Given the description of an element on the screen output the (x, y) to click on. 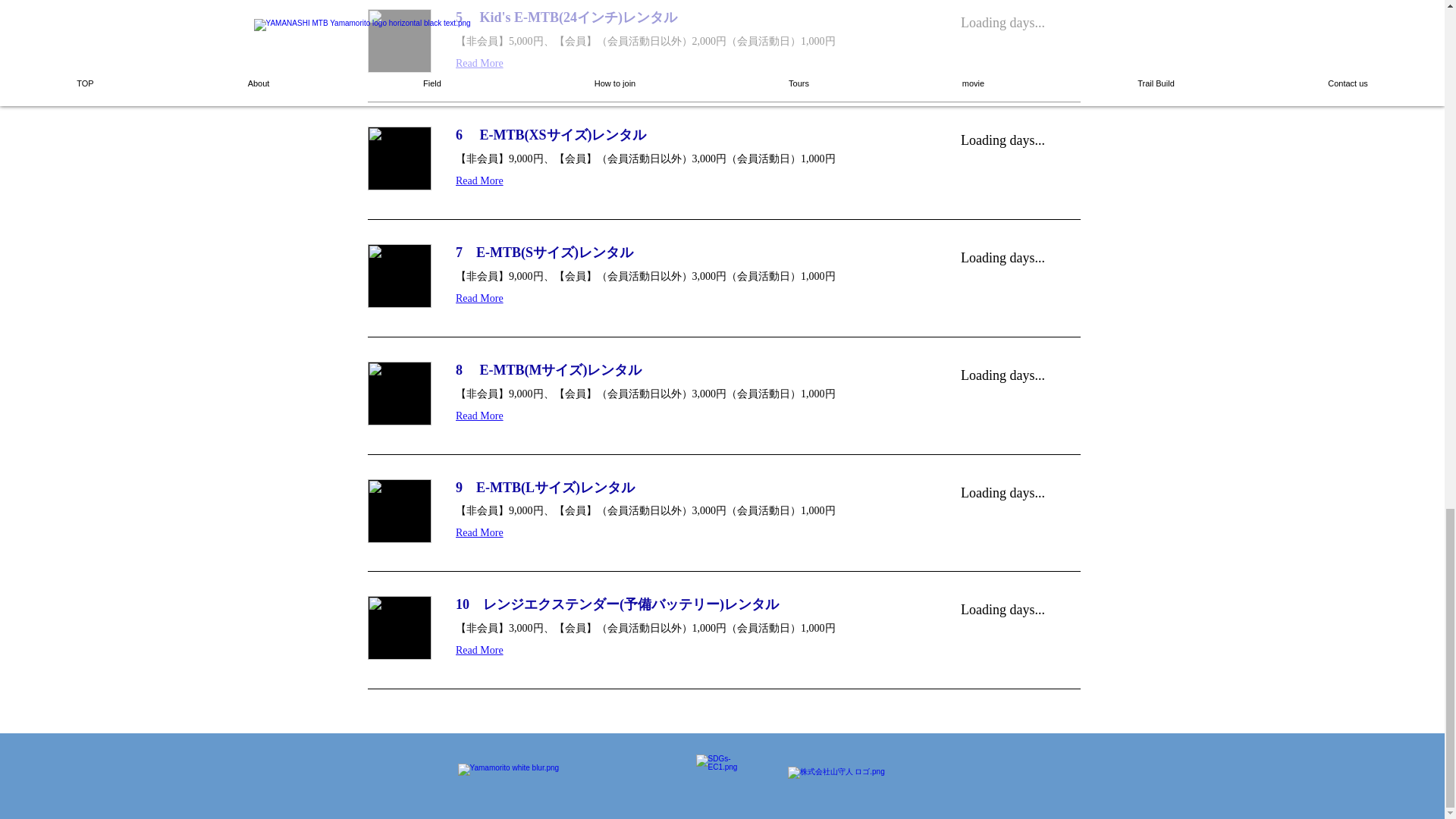
Read More (688, 180)
Read More (688, 415)
Read More (688, 297)
Read More (688, 63)
